Given the description of an element on the screen output the (x, y) to click on. 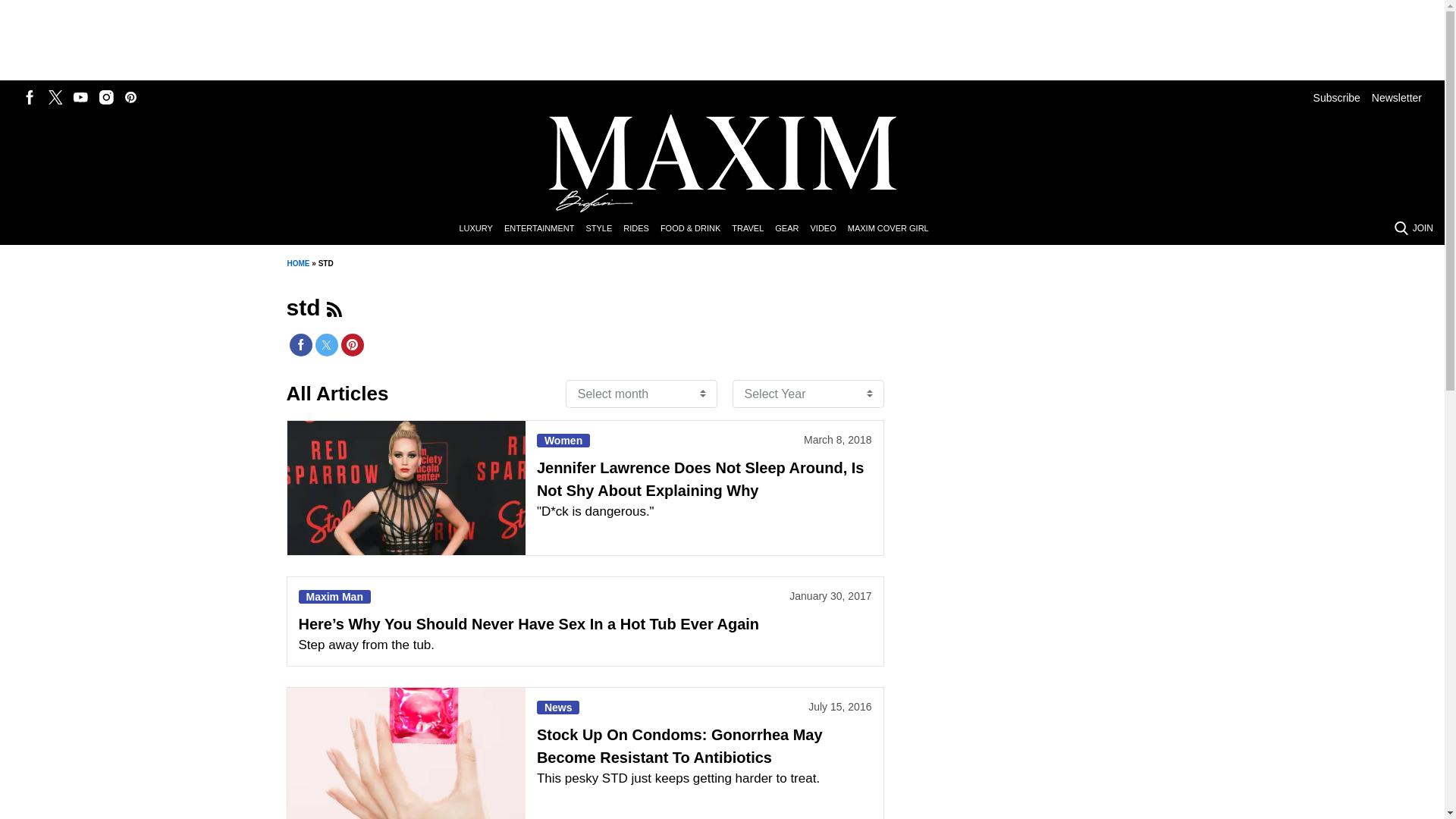
JOIN (1422, 228)
VIDEO (828, 228)
Follow us on Instagram (106, 97)
ENTERTAINMENT (544, 228)
Share on Twitter (326, 344)
Subscribe (1336, 97)
LUXURY (480, 228)
Share on Pinterest (352, 344)
